Given the description of an element on the screen output the (x, y) to click on. 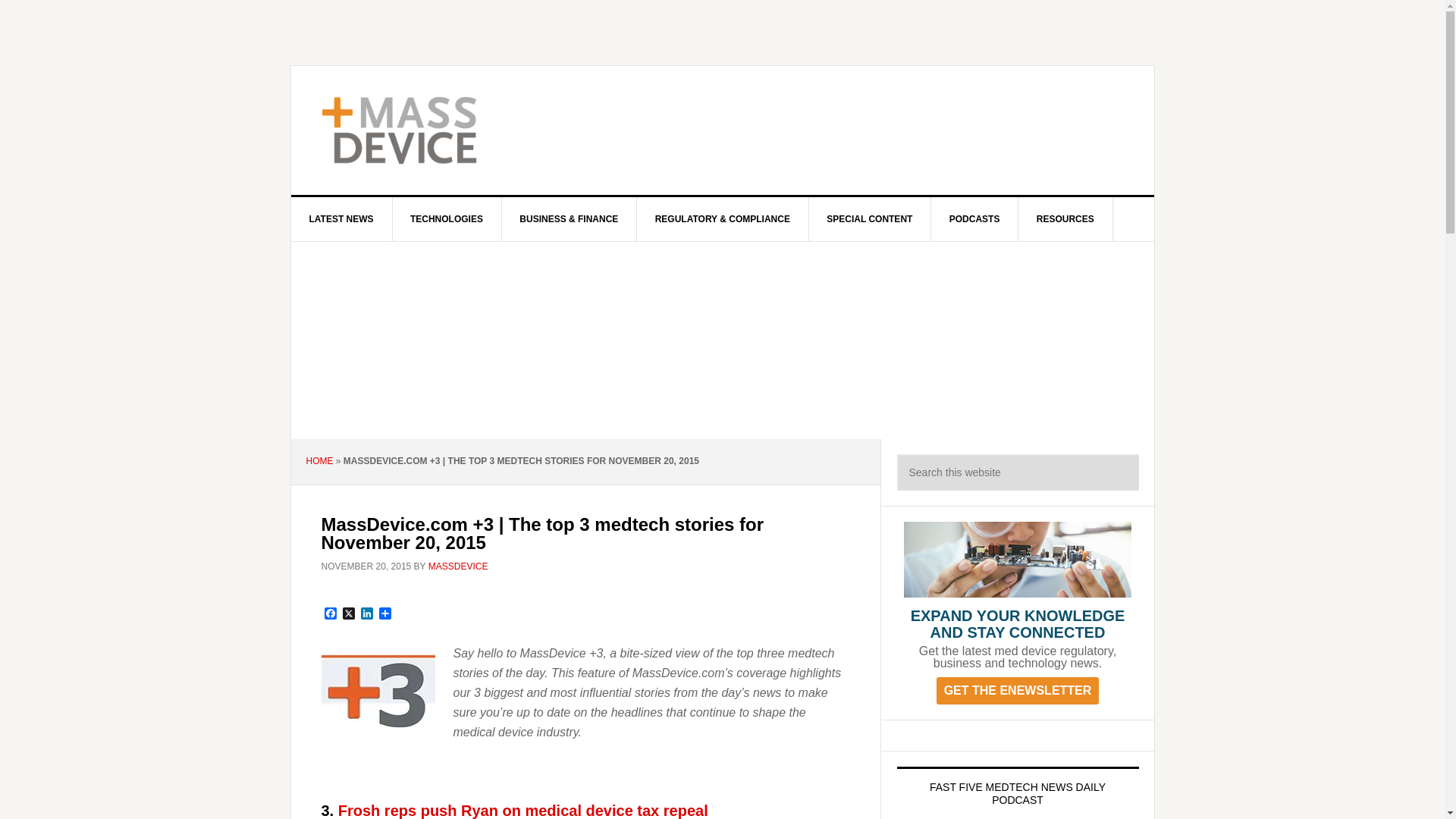
PODCASTS (975, 218)
3rd party ad content (848, 130)
MASSDEVICE (419, 130)
MassDevice.com news (522, 810)
LinkedIn (366, 614)
TECHNOLOGIES (446, 218)
SPECIAL CONTENT (869, 218)
Facebook (330, 614)
X (348, 614)
LATEST NEWS (342, 218)
